Given the description of an element on the screen output the (x, y) to click on. 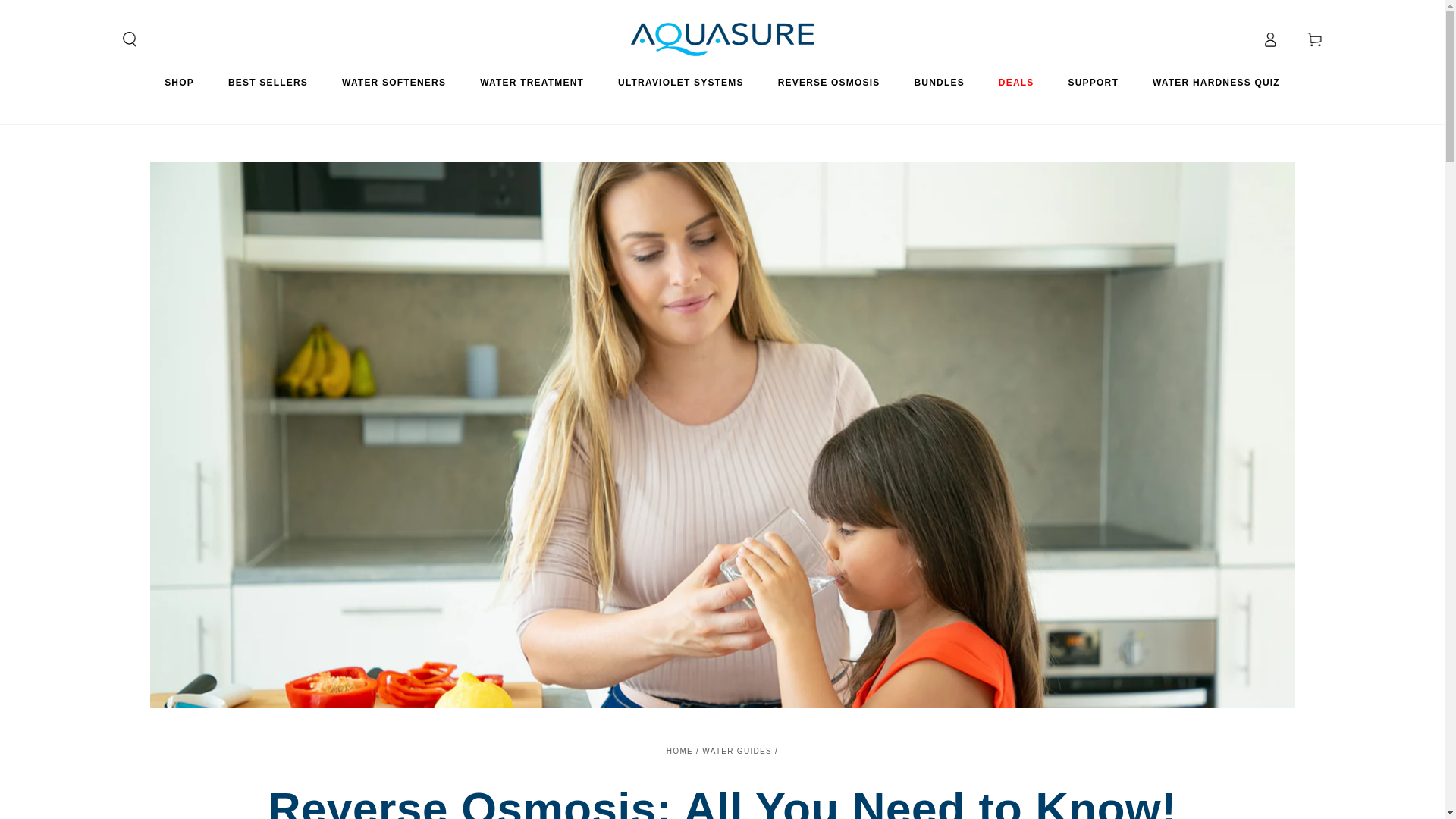
SKIP TO CONTENT (67, 14)
Back to the frontpage (679, 750)
